Given the description of an element on the screen output the (x, y) to click on. 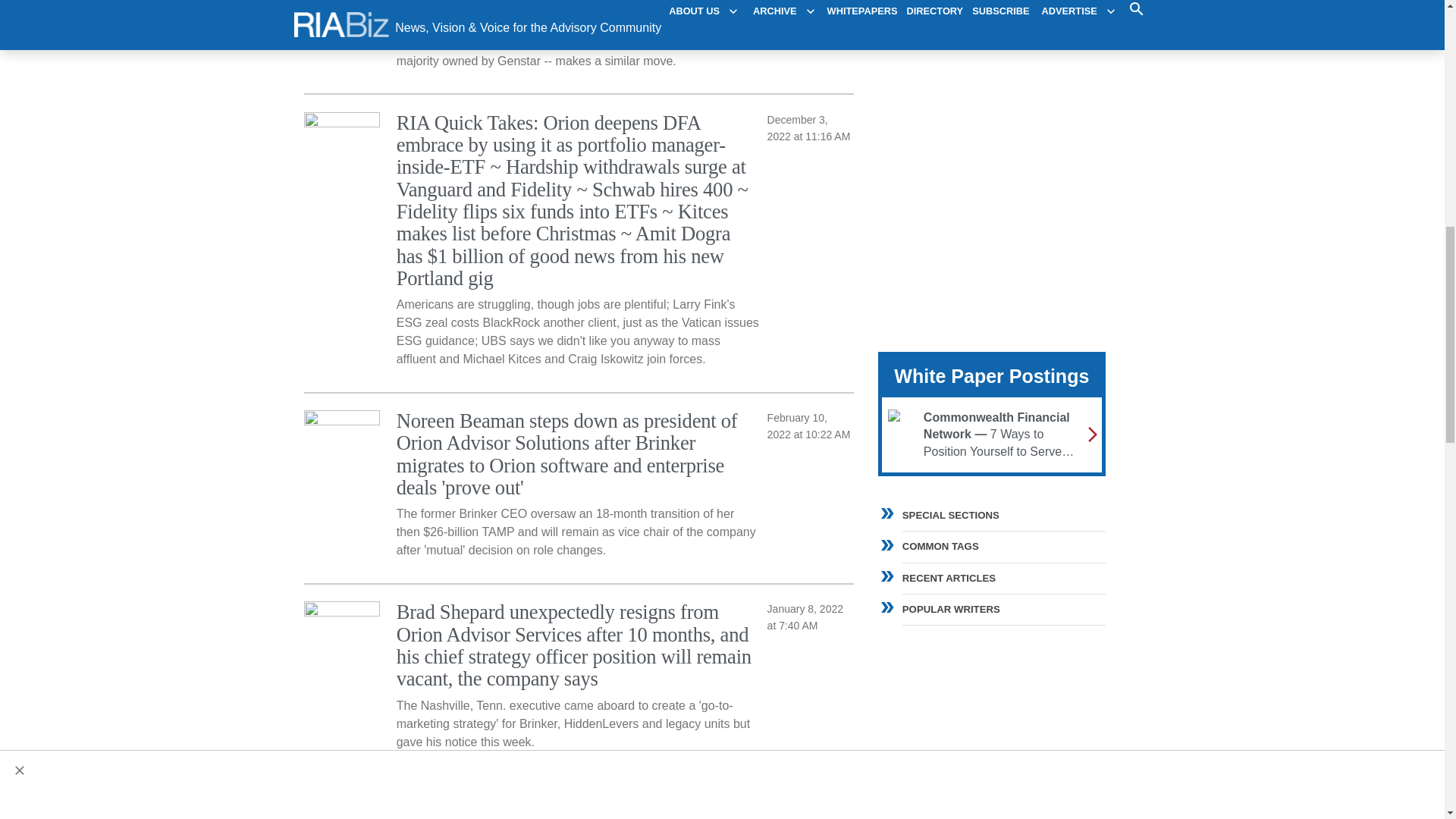
RECENT ARTICLES (991, 575)
SPECIAL SECTIONS (1003, 515)
COMMON TAGS (991, 543)
White Paper Postings (991, 375)
POPULAR WRITERS (991, 606)
